Given the description of an element on the screen output the (x, y) to click on. 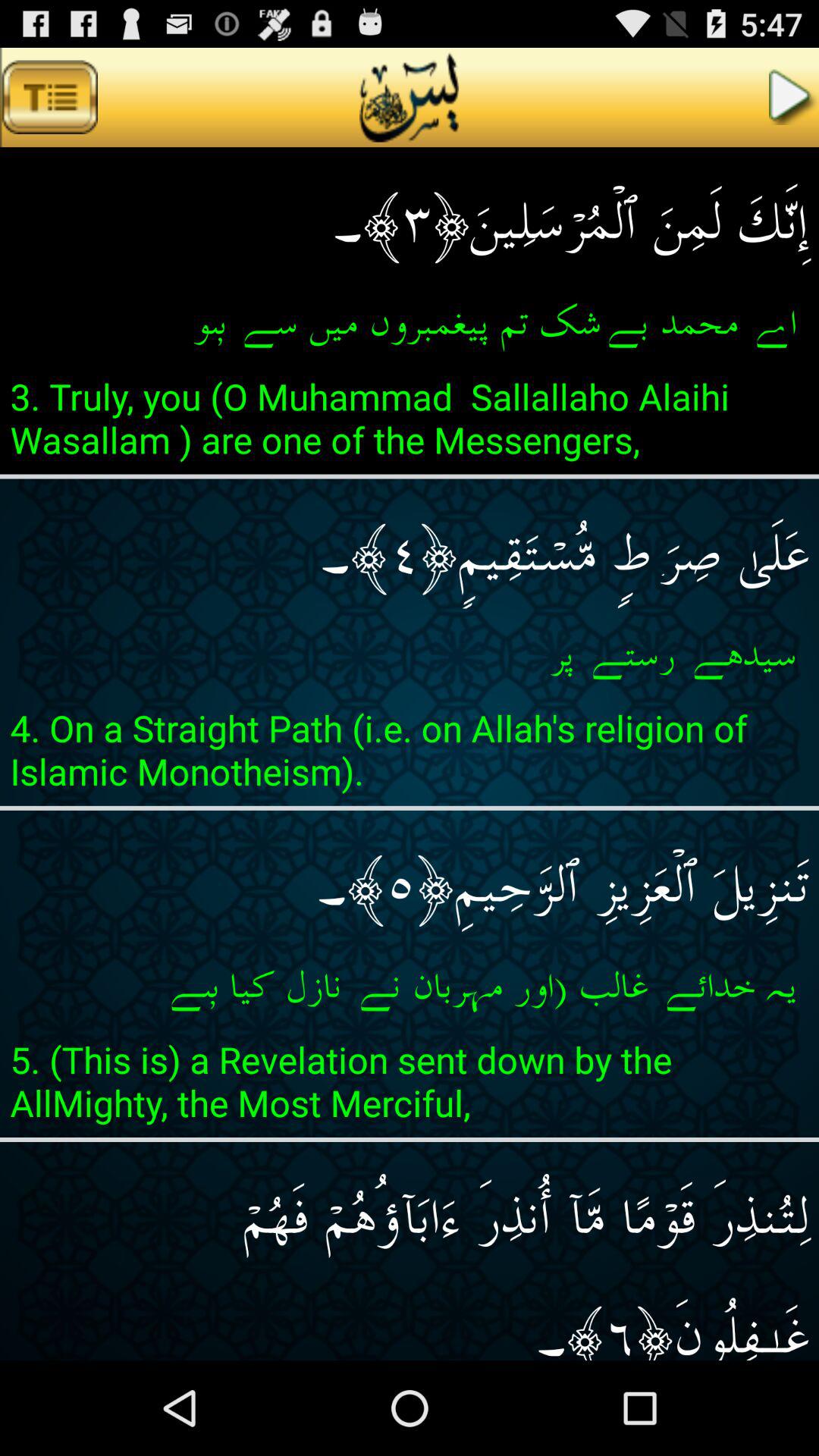
click 3 truly you app (409, 422)
